Given the description of an element on the screen output the (x, y) to click on. 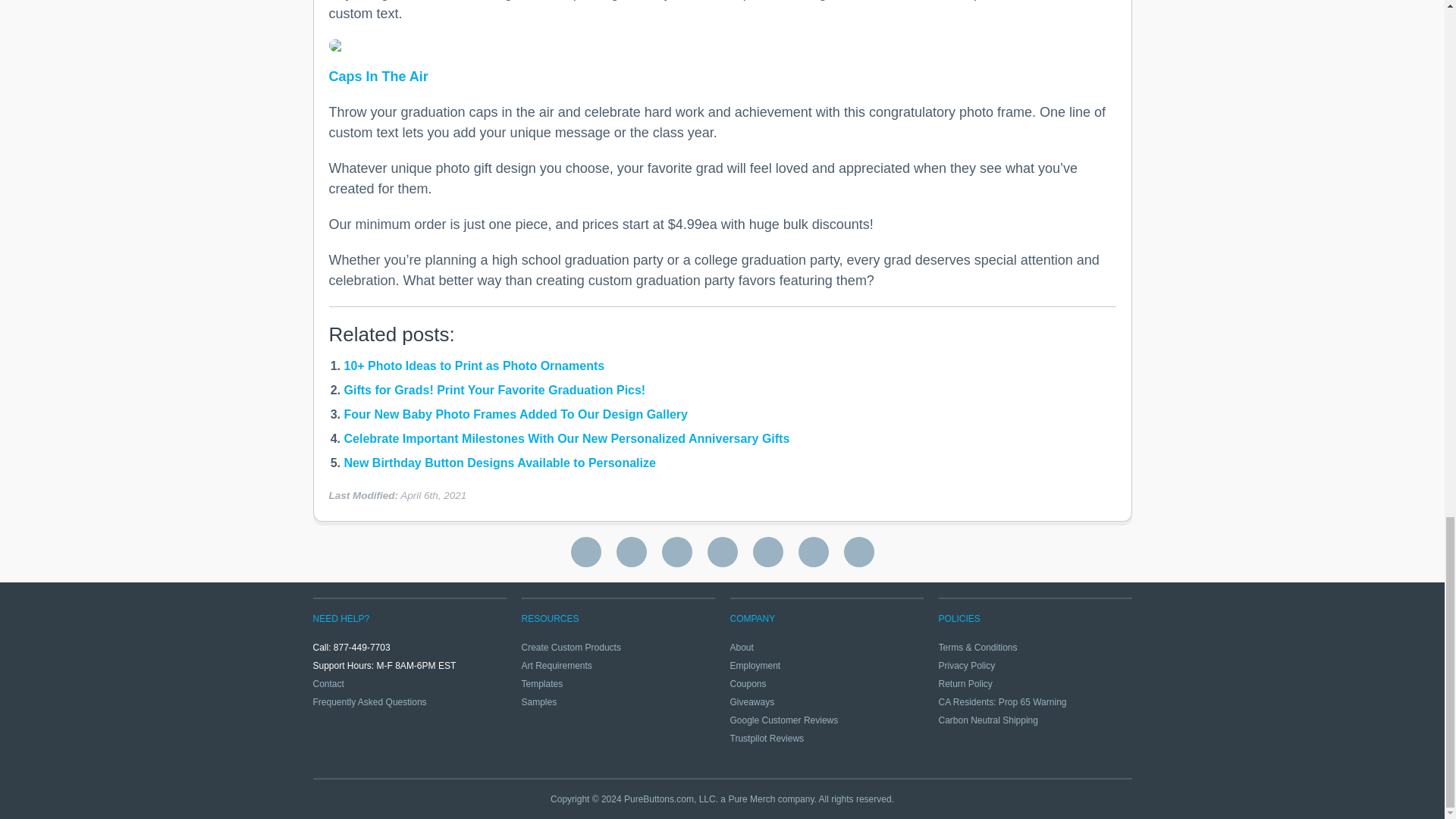
Four New Baby Photo Frames Added To Our Design Gallery (515, 413)
Gifts for Grads! Print Your Favorite Graduation Pics! (494, 390)
New Birthday Button Designs Available to Personalize (499, 462)
Pure Buttons Google Reviews (584, 552)
